Given the description of an element on the screen output the (x, y) to click on. 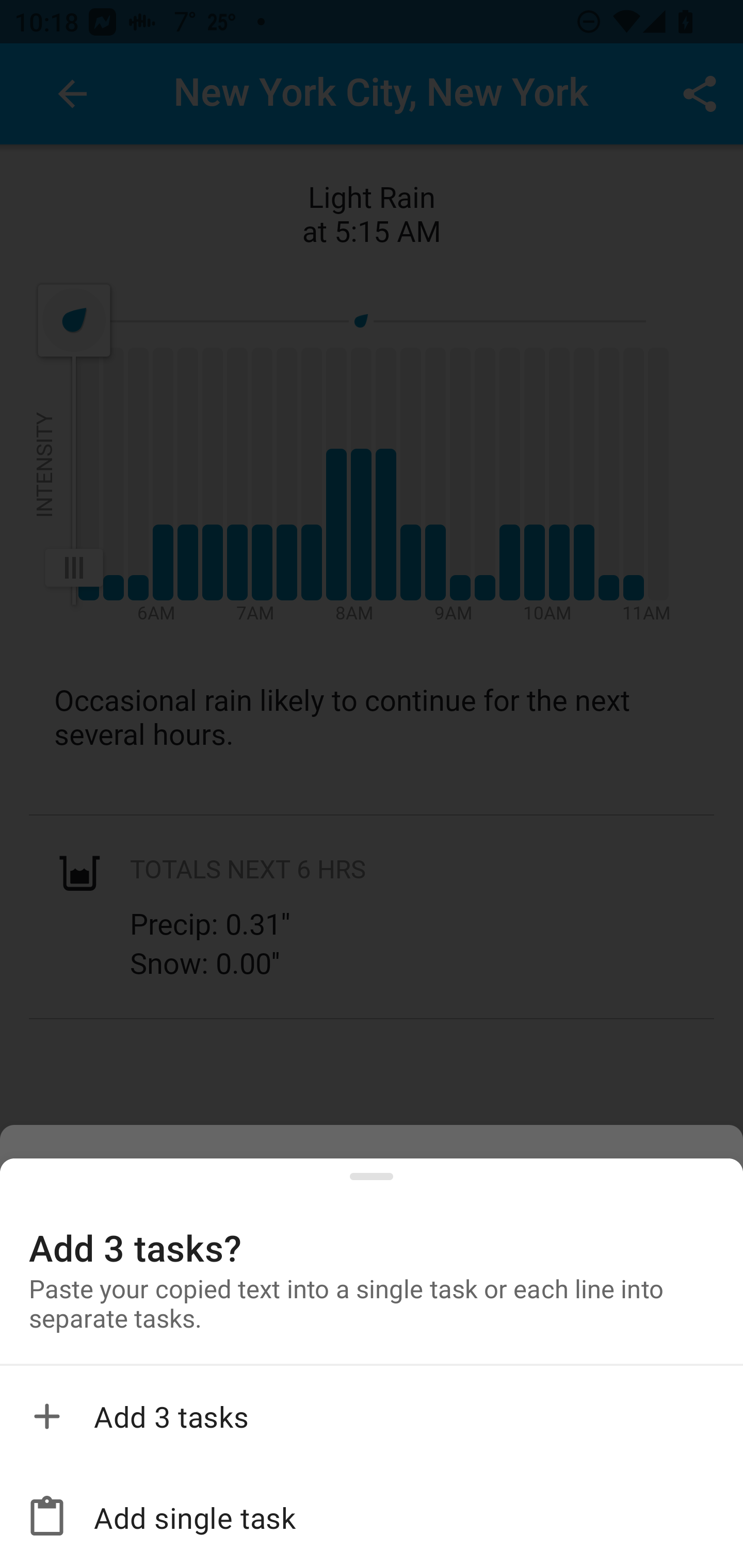
Add 3 tasks (371, 1416)
Add single task (371, 1517)
